Given the description of an element on the screen output the (x, y) to click on. 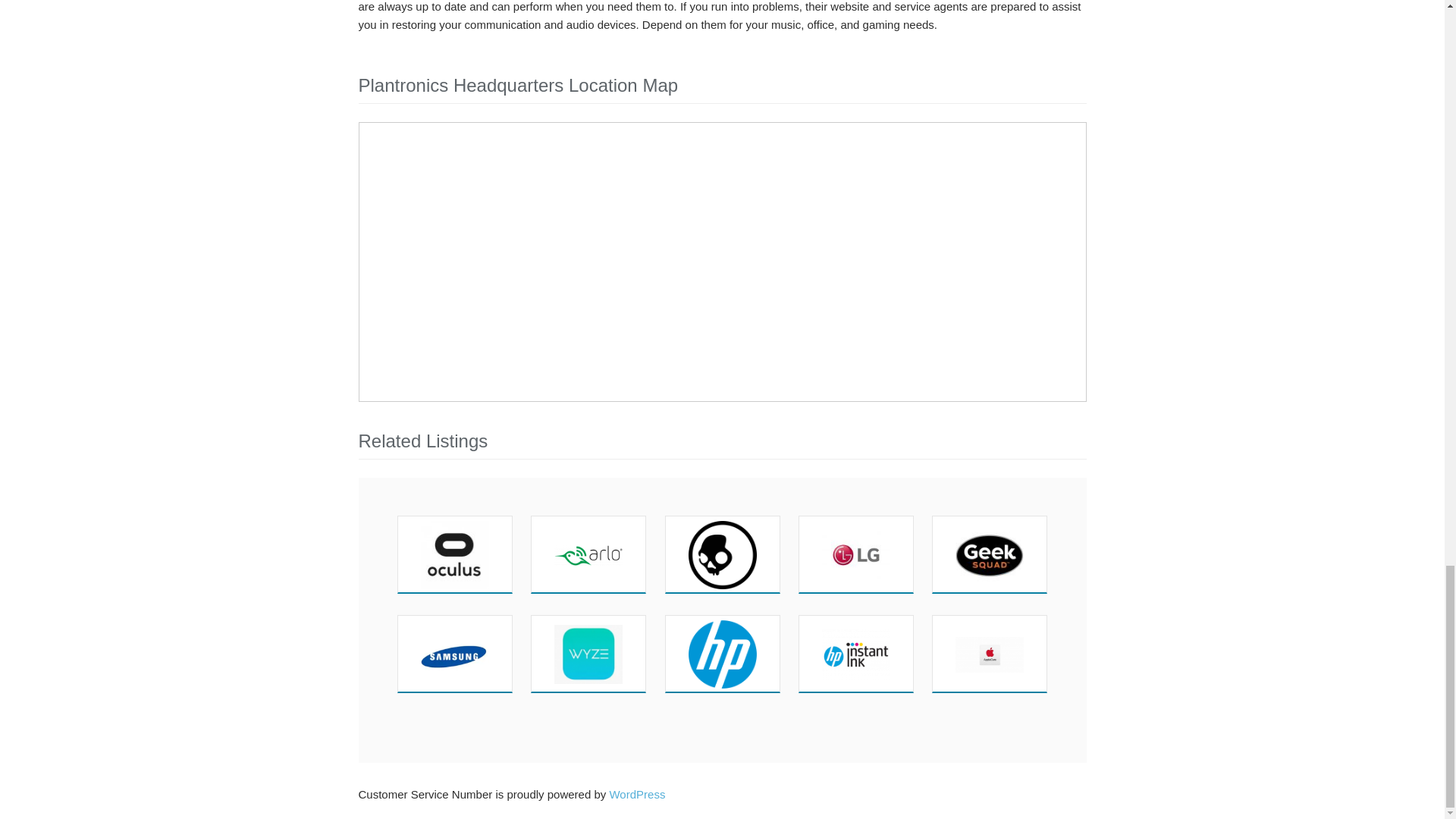
Skullcandy Customer Service Number (722, 553)
HP Instant Ink Customer Service Number 855-785-2777 (855, 653)
LG TV Customer Service Number 833-378-0003 (855, 553)
Samsung Tech Support Customer Service Number 800-726-7864 (454, 653)
Wyze Customer Service Number 206-208-0533 (588, 653)
HP Printer Customer Service Number 800-474-6836 (722, 653)
Arlo Customer Service Number (588, 553)
WordPress (636, 793)
Oculus Customer Service Number (454, 553)
Best Buy Geek Squad Customer Service Number 800-433-5778 (989, 553)
